Given the description of an element on the screen output the (x, y) to click on. 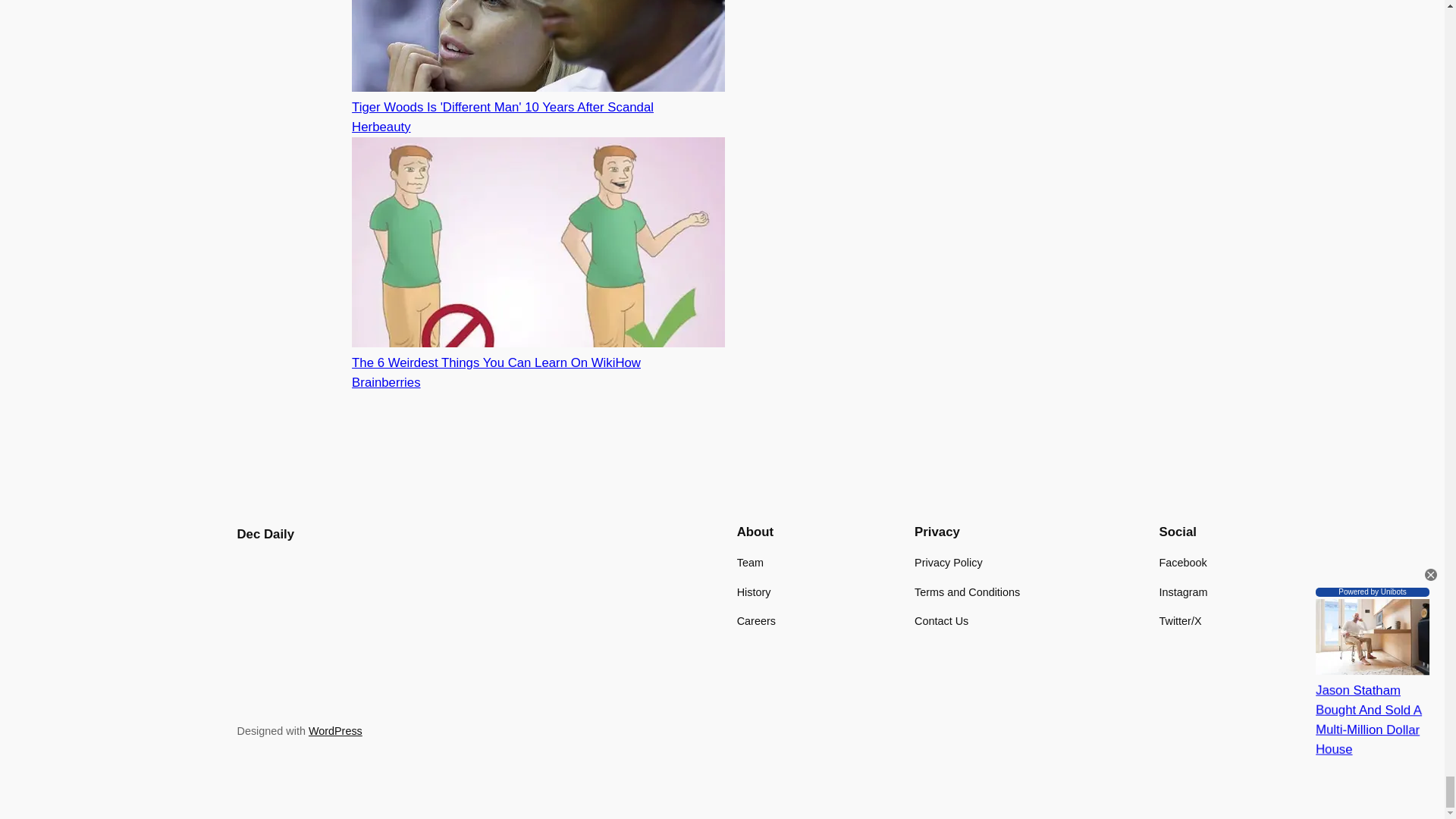
Contact Us (941, 620)
History (753, 591)
Privacy Policy (948, 562)
Instagram (1182, 591)
Team (749, 562)
Careers (756, 620)
Dec Daily (264, 534)
Facebook (1182, 562)
Terms and Conditions (967, 591)
WordPress (335, 730)
